Given the description of an element on the screen output the (x, y) to click on. 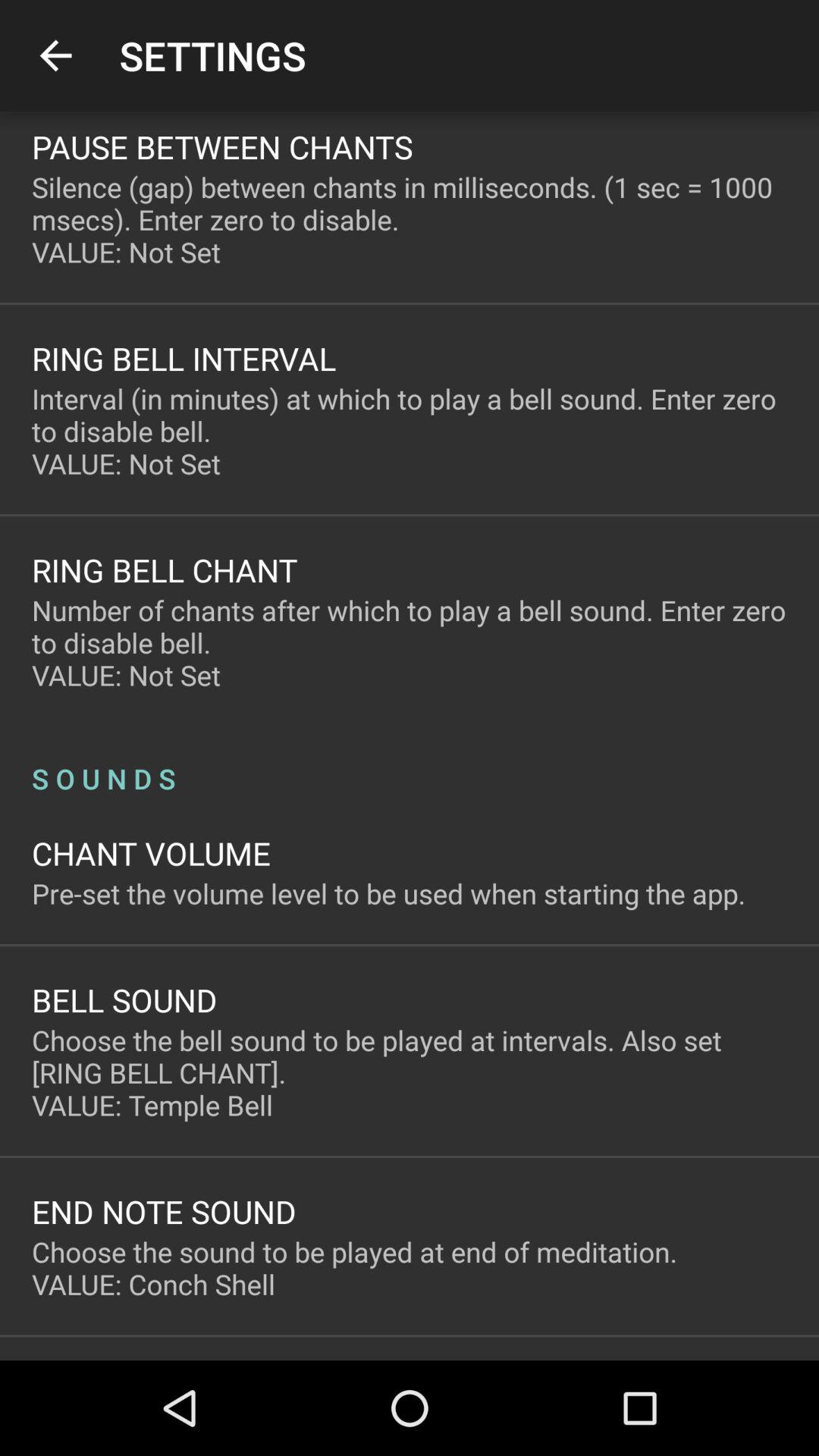
turn off the number of chants (409, 642)
